Given the description of an element on the screen output the (x, y) to click on. 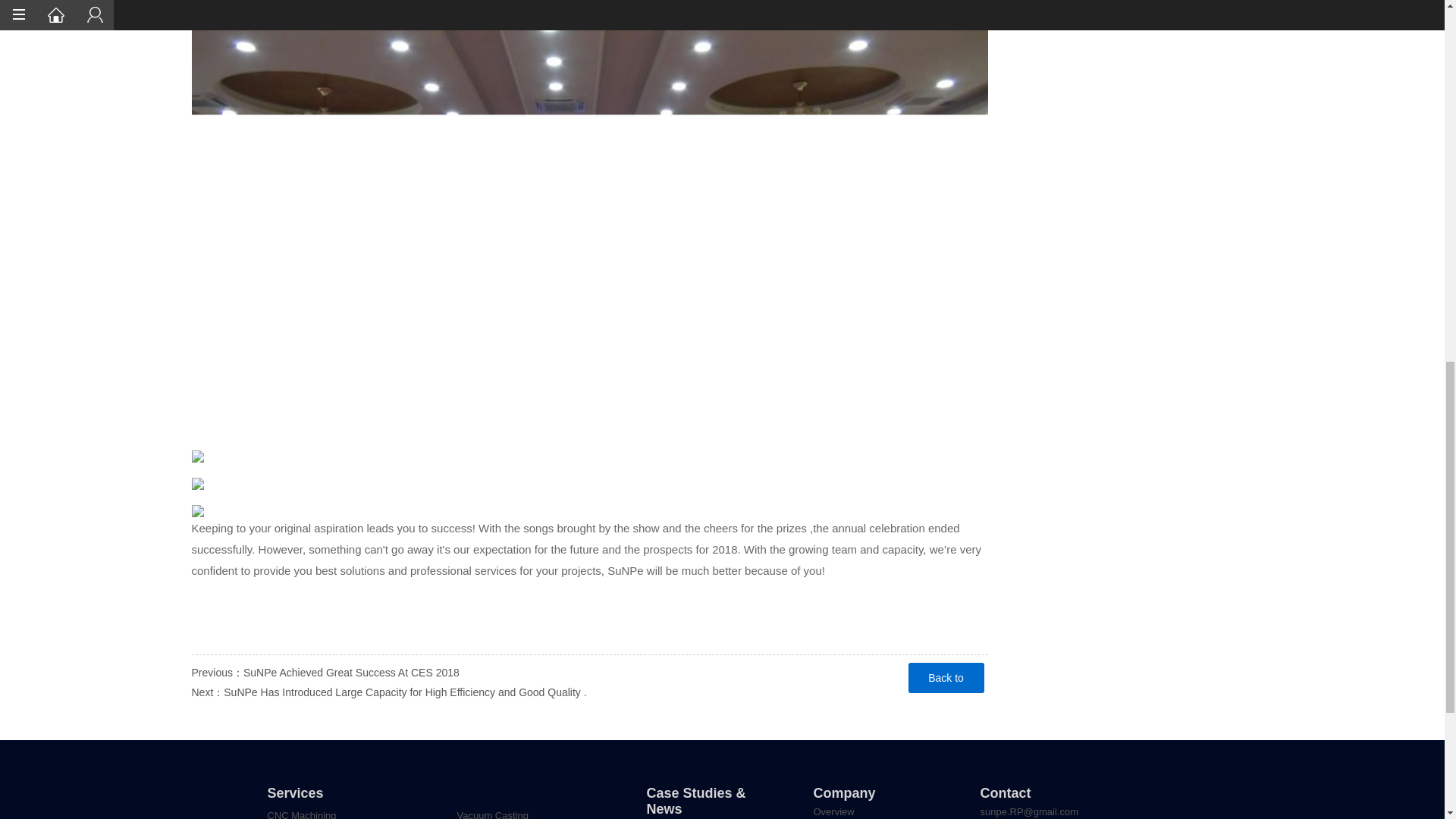
Overview (877, 809)
SuNPe Achieved Great Success At CES 2018 (588, 672)
Company (843, 792)
Vacuum Casting (532, 809)
Services (294, 792)
Back to homepage (946, 677)
Case Studies (710, 818)
CNC Machining (342, 809)
